Given the description of an element on the screen output the (x, y) to click on. 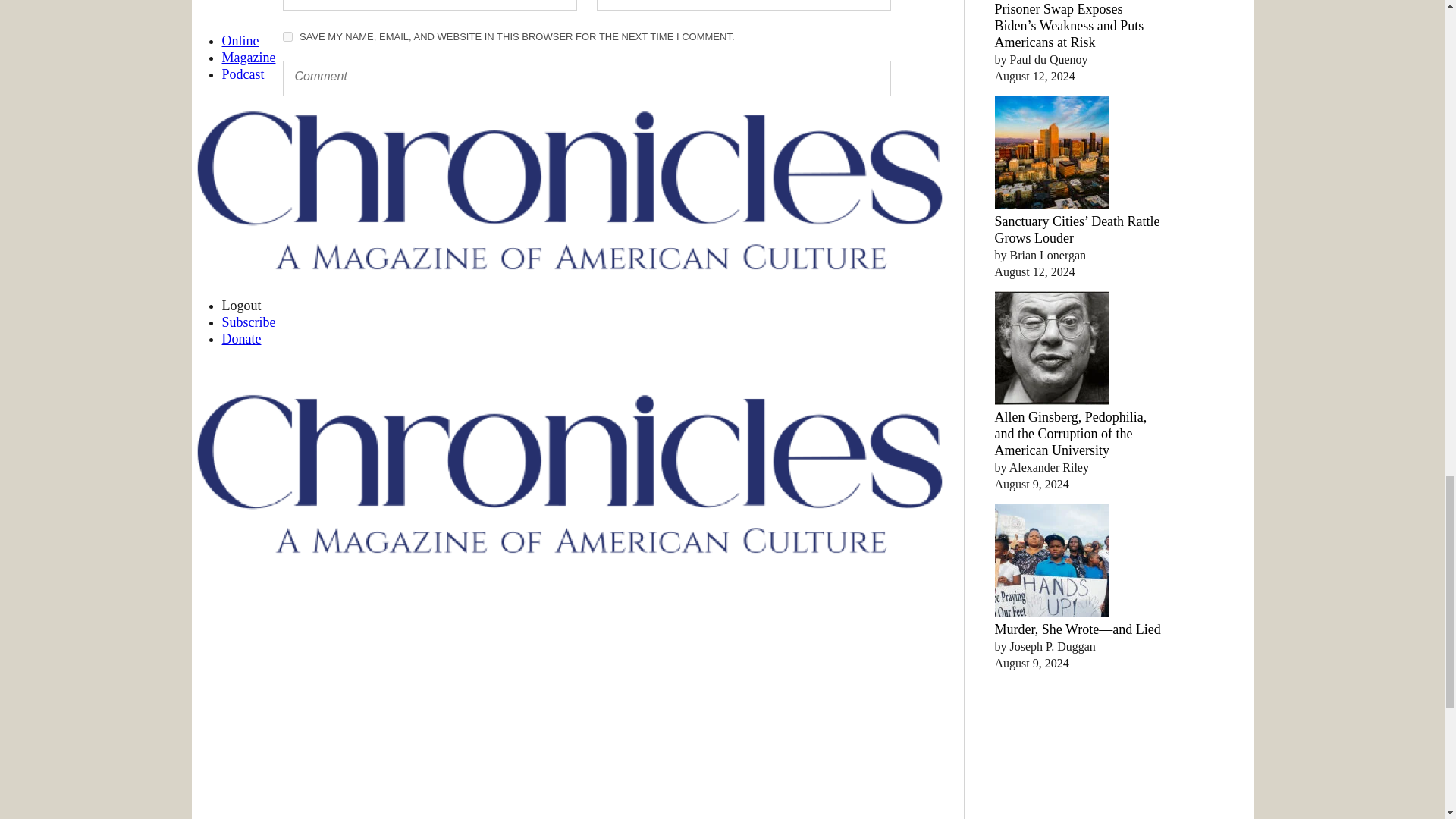
Add Comment (350, 218)
Learn how your comment data is processed (616, 263)
Add Comment (350, 218)
yes (287, 36)
